Given the description of an element on the screen output the (x, y) to click on. 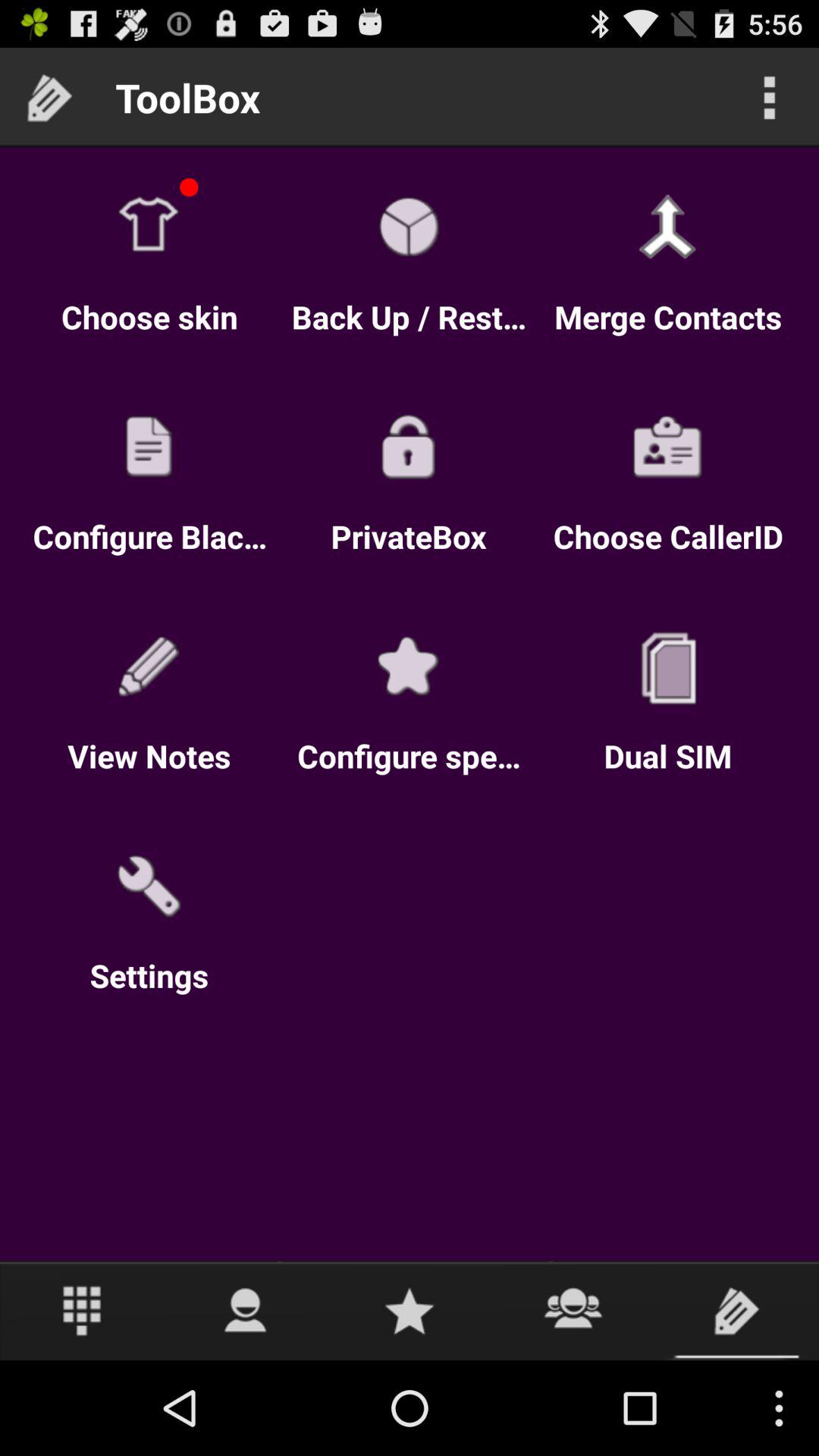
go to favorites (409, 1310)
